Given the description of an element on the screen output the (x, y) to click on. 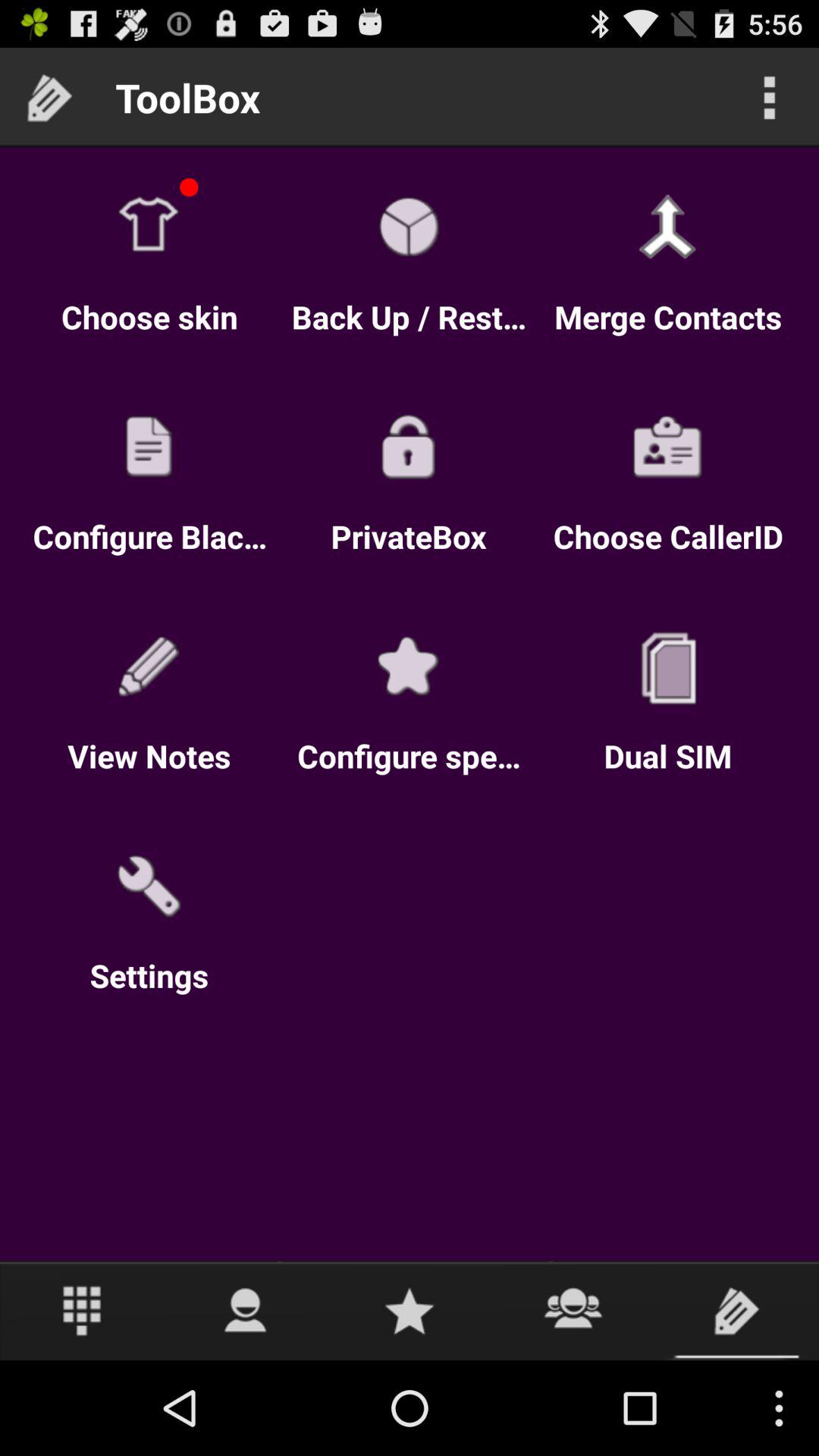
go to favorites (409, 1310)
